Given the description of an element on the screen output the (x, y) to click on. 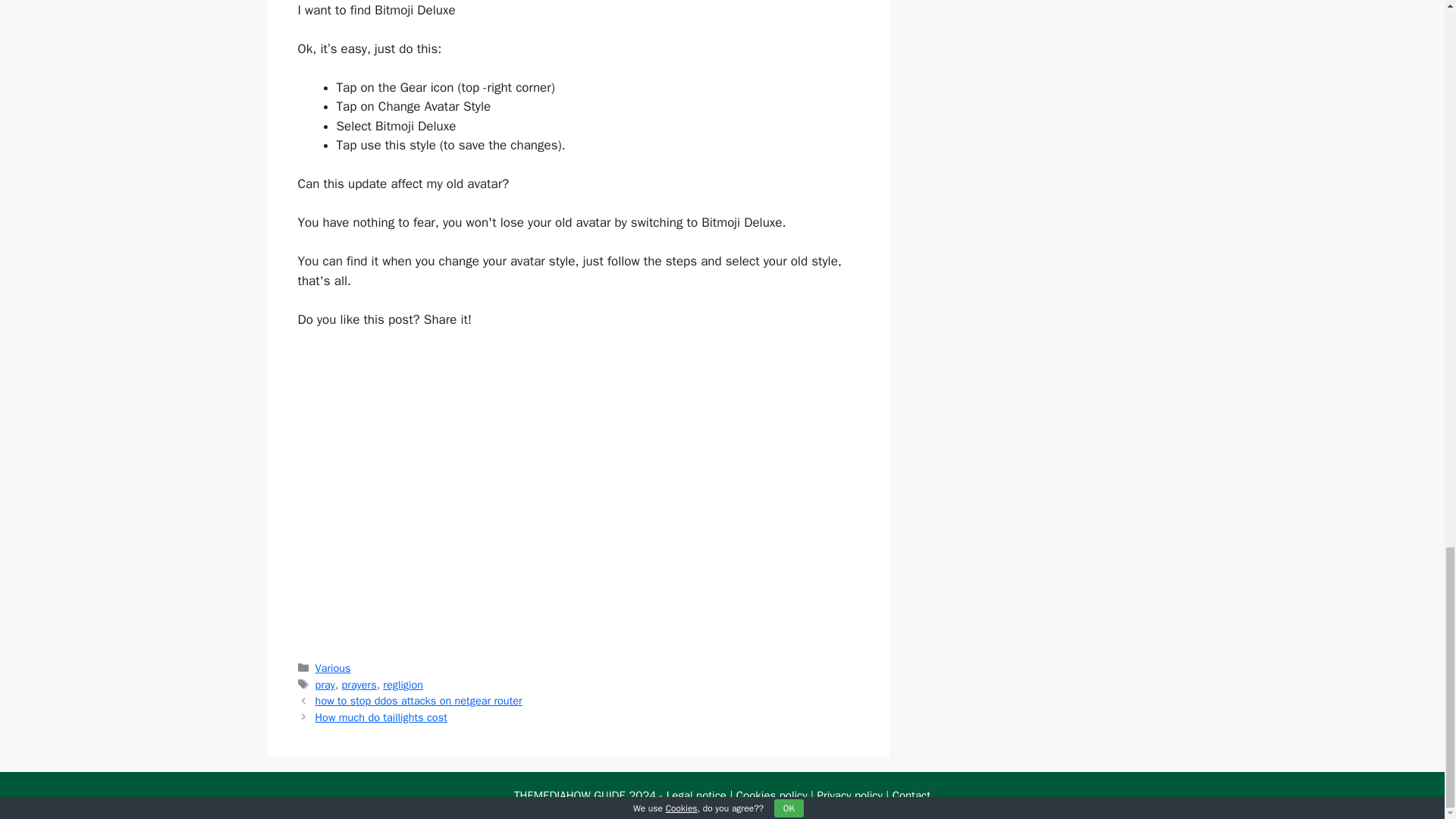
prayers (359, 684)
Previous (418, 700)
Various (332, 667)
Next (380, 716)
regligion (402, 684)
how to stop ddos attacks on netgear router (418, 700)
pray (324, 684)
How much do taillights cost (380, 716)
